Given the description of an element on the screen output the (x, y) to click on. 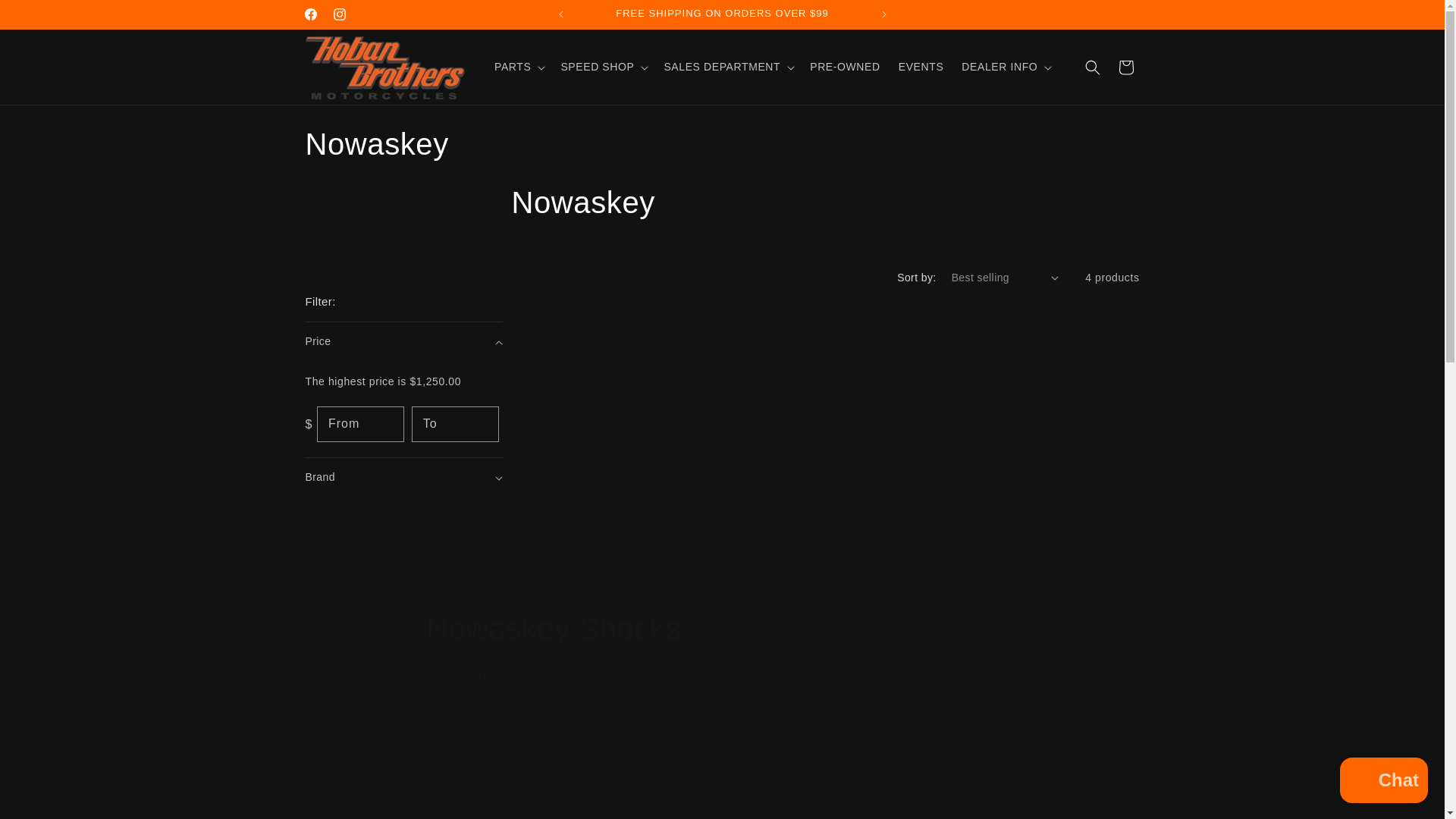
Nowaskey Shocks (721, 173)
Instagram (721, 628)
Shopify online store chat (338, 14)
Skip to content (1383, 781)
Facebook (45, 17)
